Given the description of an element on the screen output the (x, y) to click on. 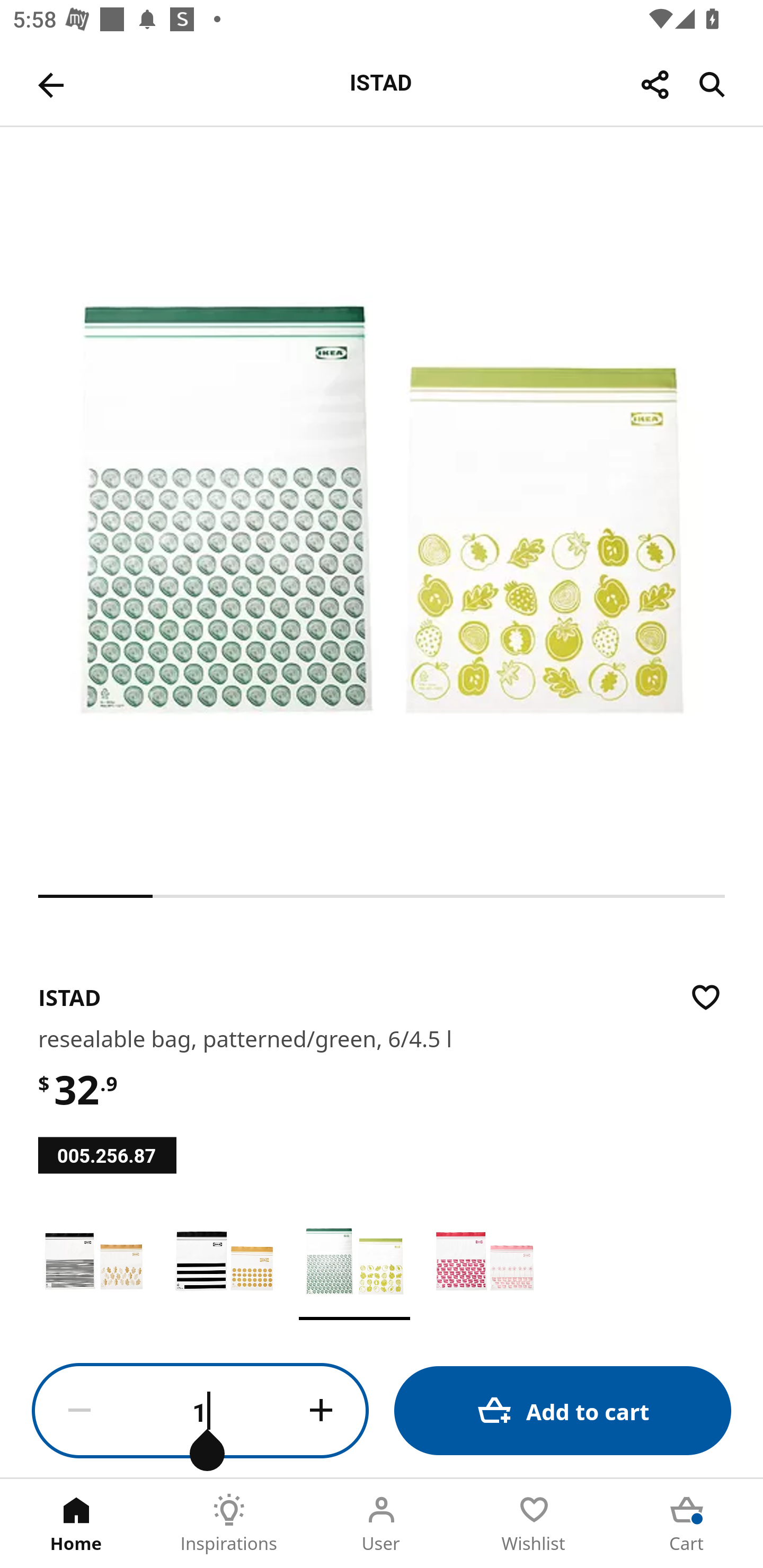
Add to cart (562, 1410)
1 (200, 1411)
Home
Tab 1 of 5 (76, 1522)
Inspirations
Tab 2 of 5 (228, 1522)
User
Tab 3 of 5 (381, 1522)
Wishlist
Tab 4 of 5 (533, 1522)
Cart
Tab 5 of 5 (686, 1522)
